Given the description of an element on the screen output the (x, y) to click on. 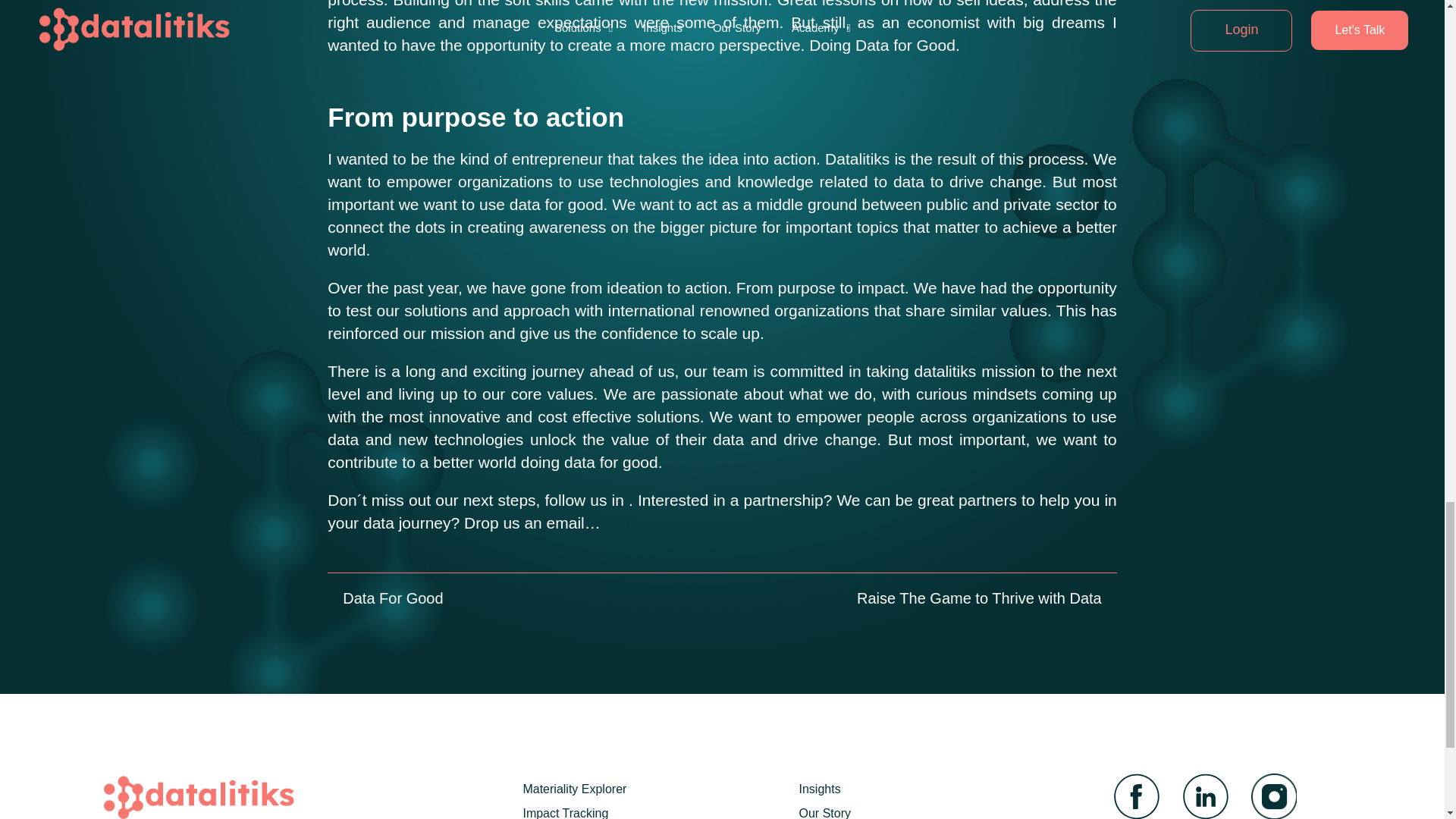
Data For Good (384, 597)
